Given the description of an element on the screen output the (x, y) to click on. 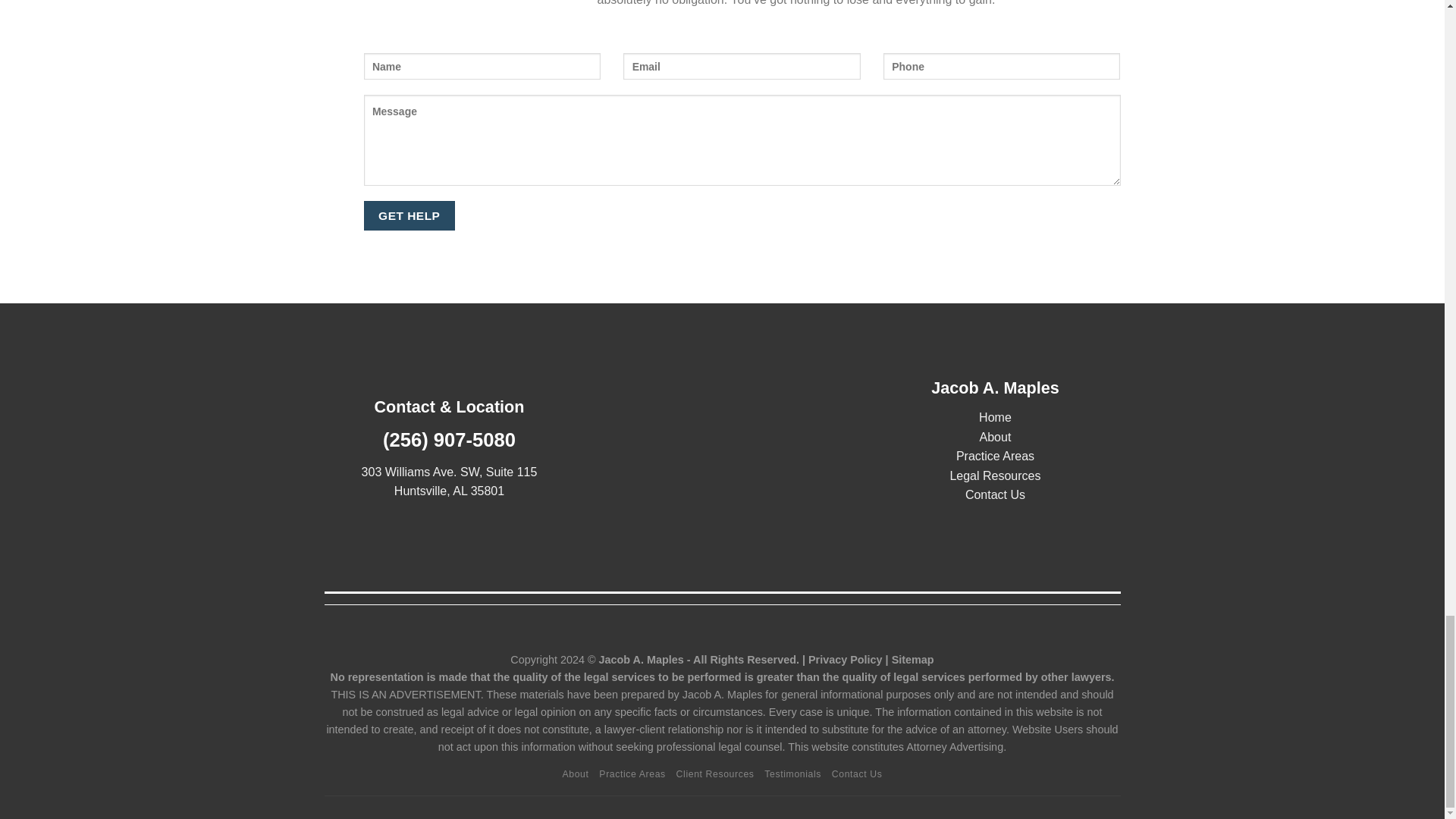
Get Help (409, 215)
